Given the description of an element on the screen output the (x, y) to click on. 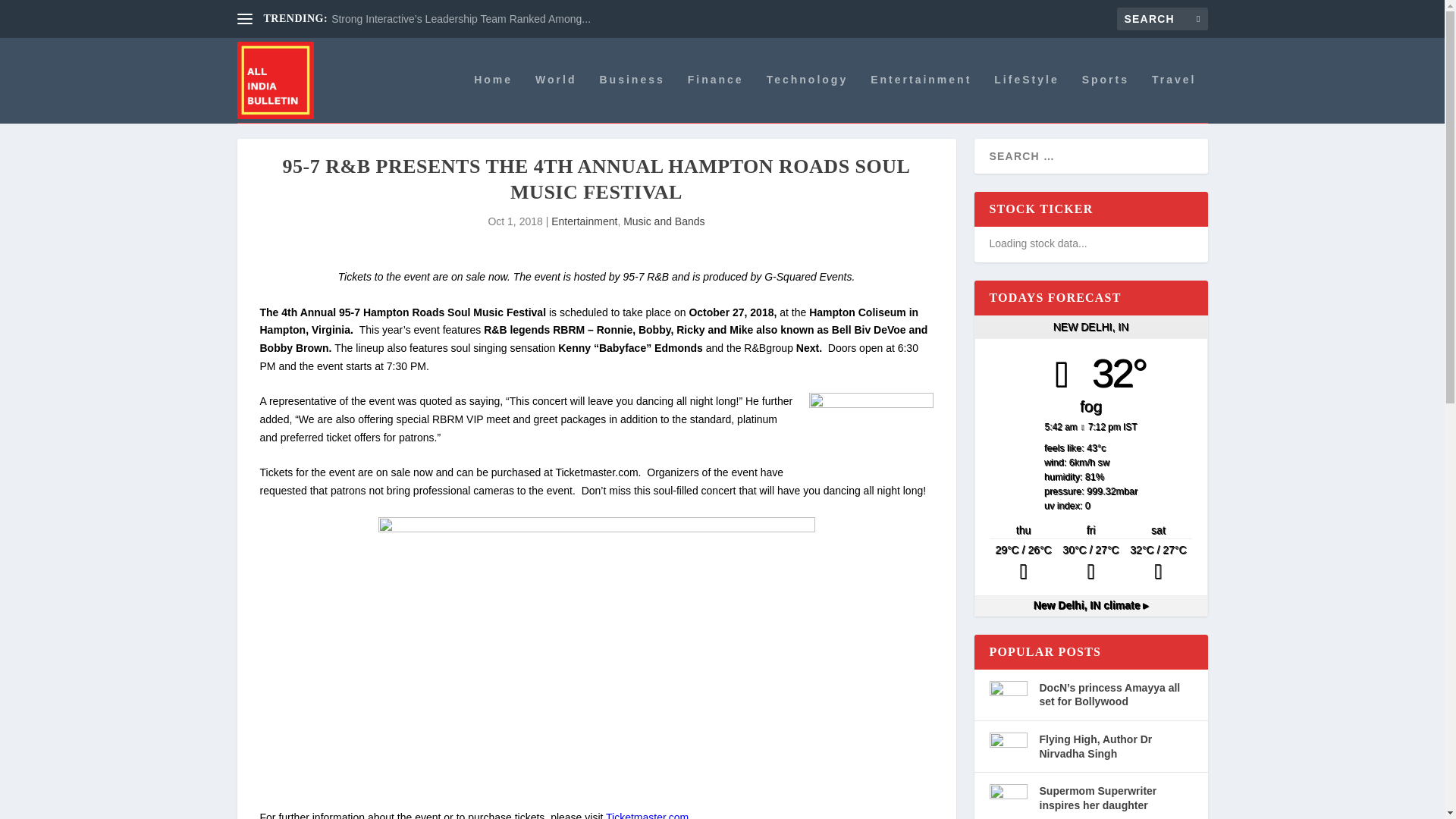
Sports (1105, 97)
Business (630, 97)
Technology (807, 97)
Entertainment (920, 97)
Entertainment (584, 221)
LifeStyle (1026, 97)
Search for: (1161, 18)
Finance (715, 97)
Ticketmaster.com (646, 815)
Rain (1158, 563)
Travel (1173, 97)
Music and Bands (663, 221)
Heavy Thunderstorms (1023, 563)
New Delhi, IN - Climate (1090, 604)
